Given the description of an element on the screen output the (x, y) to click on. 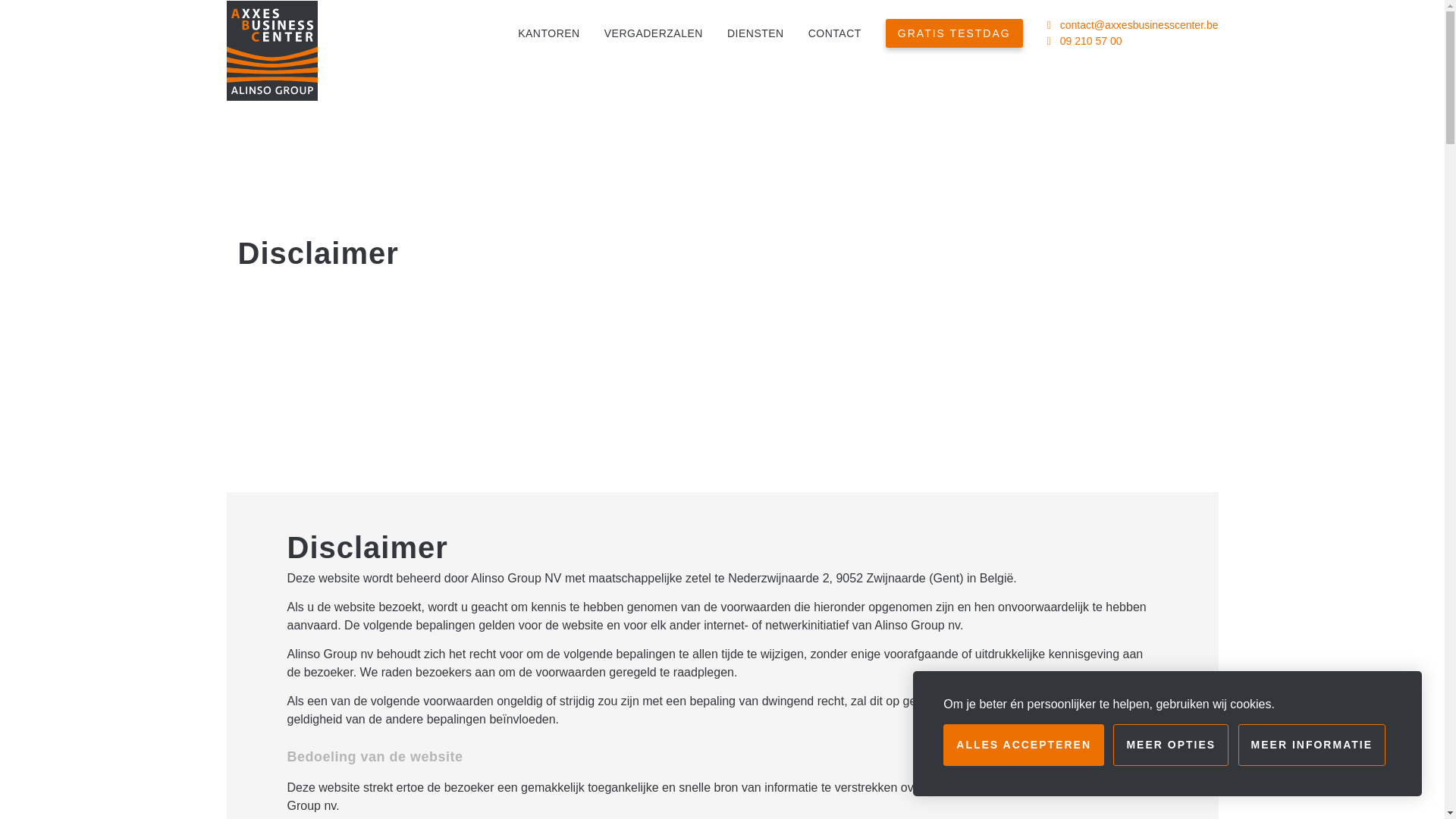
VERGADERZALEN Element type: text (653, 33)
ALLES ACCEPTEREN Element type: text (1023, 744)
DIENSTEN Element type: text (755, 33)
MEER OPTIES Element type: text (1170, 744)
GRATIS TESTDAG Element type: text (953, 33)
KANTOREN Element type: text (548, 33)
09 210 57 00 Element type: text (1091, 40)
CONTACT Element type: text (834, 33)
contact@axxesbusinesscenter.be Element type: text (1139, 24)
MEER INFORMATIE Element type: text (1311, 744)
